Given the description of an element on the screen output the (x, y) to click on. 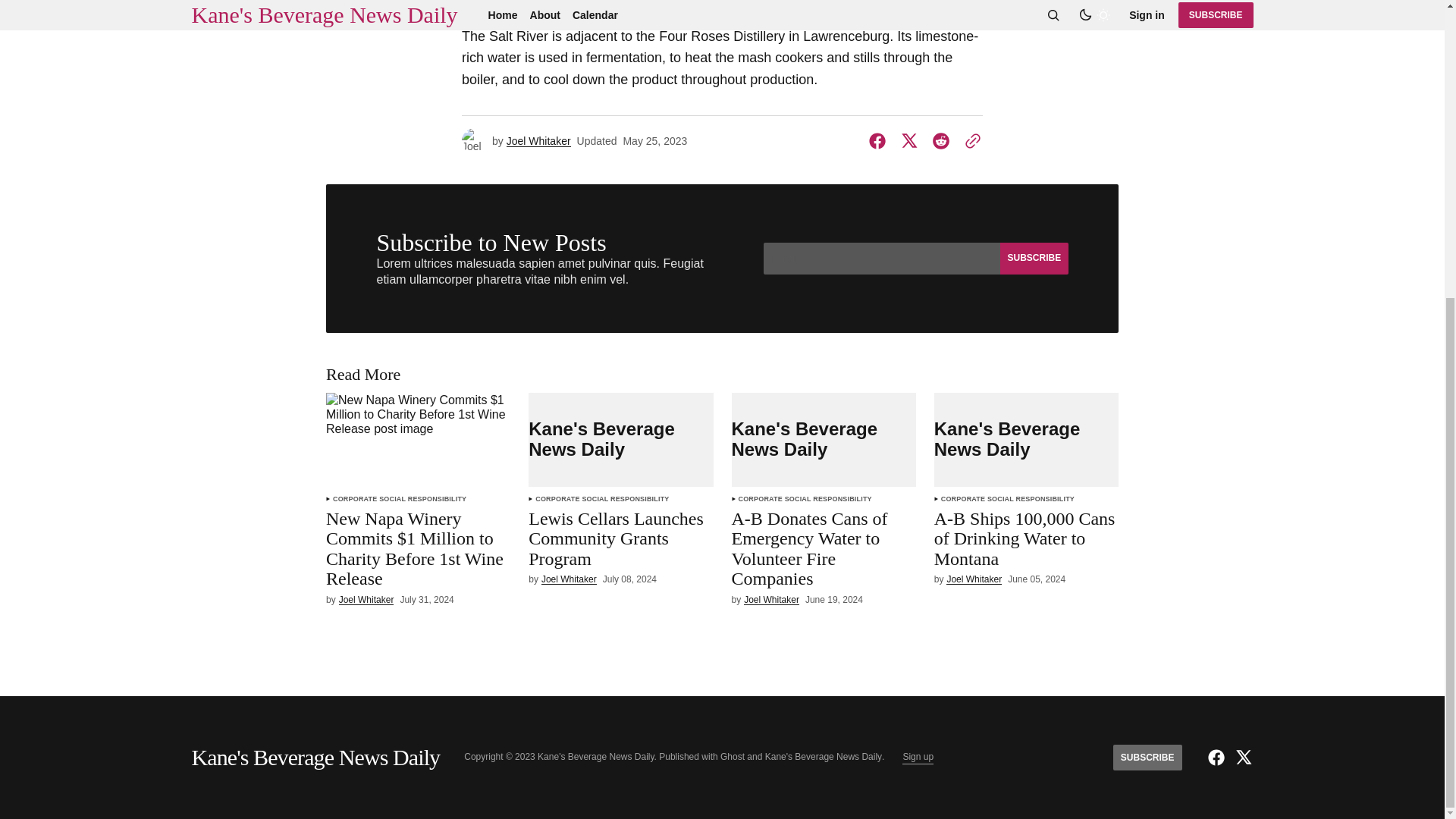
Joel Whitaker (568, 579)
Joel Whitaker (366, 600)
Joel Whitaker (538, 141)
Kane's Beverage News Daily (620, 439)
Lewis Cellars Launches Community Grants Program (620, 541)
CORPORATE SOCIAL RESPONSIBILITY (399, 499)
SUBSCRIBE (1032, 258)
CORPORATE SOCIAL RESPONSIBILITY (601, 499)
